Given the description of an element on the screen output the (x, y) to click on. 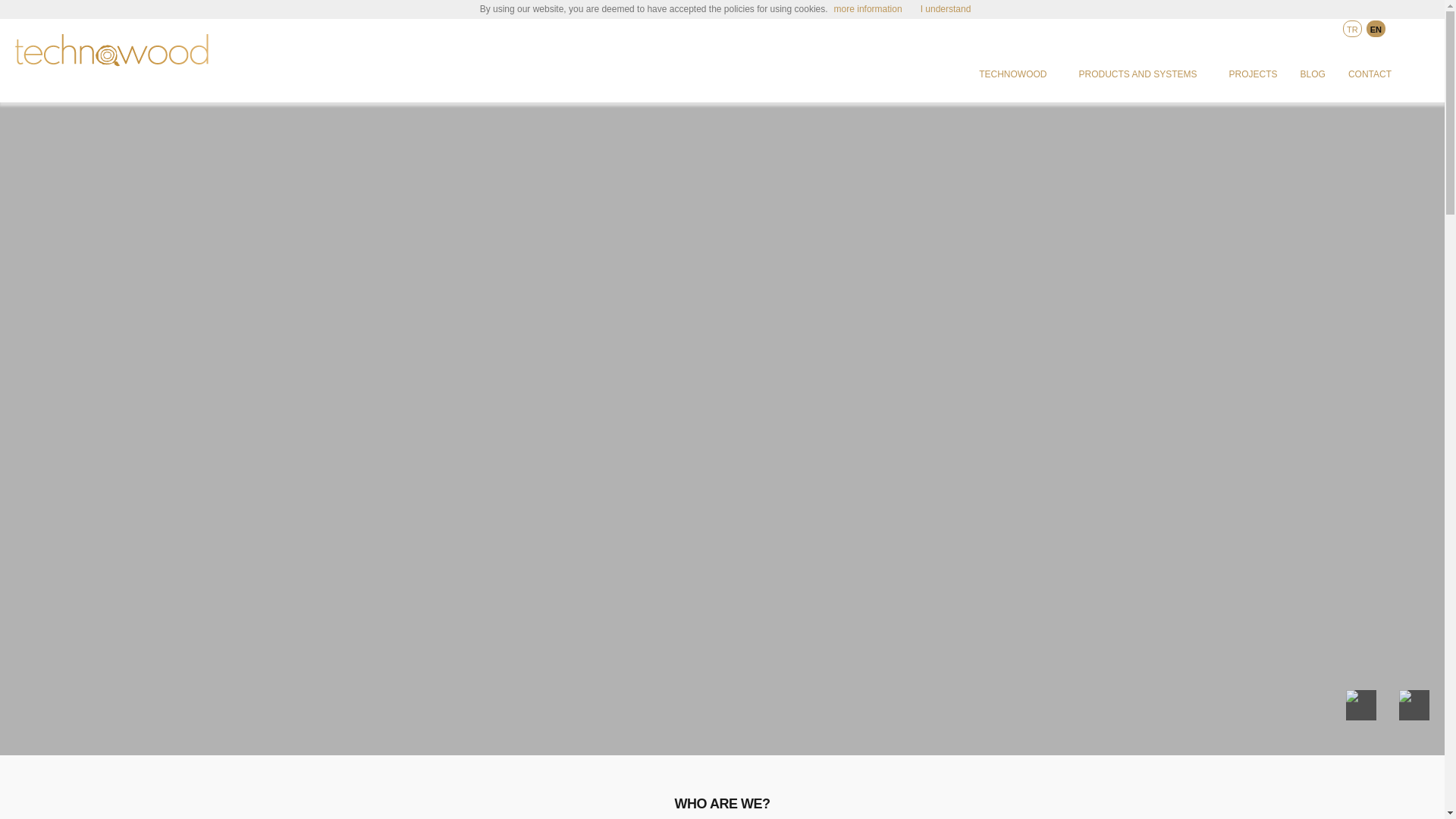
TECHNOWOOD (1012, 73)
EN (1376, 28)
PRODUCTS AND SYSTEMS (1137, 73)
TR (1351, 28)
